Given the description of an element on the screen output the (x, y) to click on. 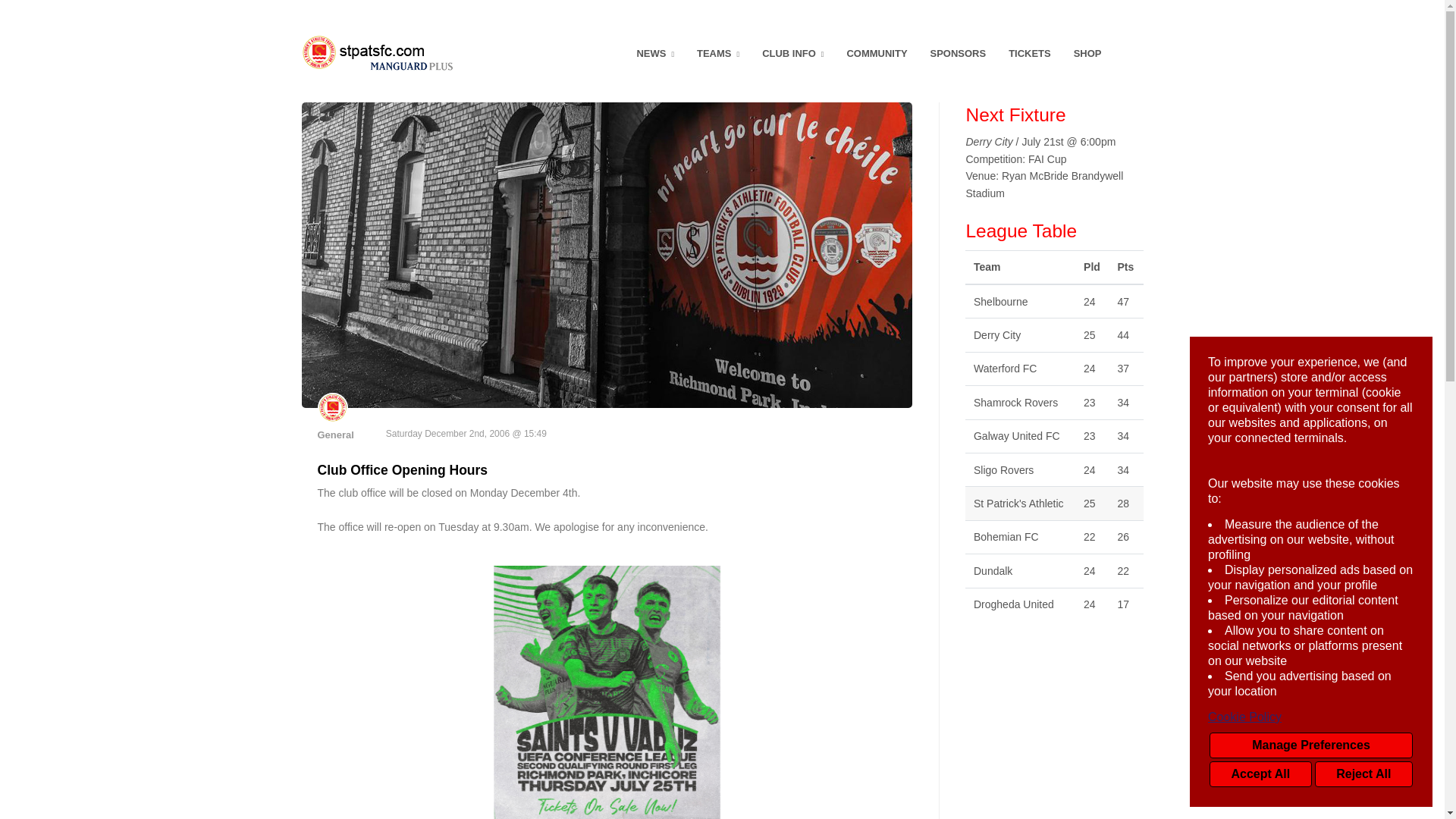
Manage Preferences (1310, 745)
NEWS (655, 53)
Reject All (1363, 774)
TEAMS (718, 53)
Cookie Policy (1310, 717)
Accept All (1260, 774)
